Given the description of an element on the screen output the (x, y) to click on. 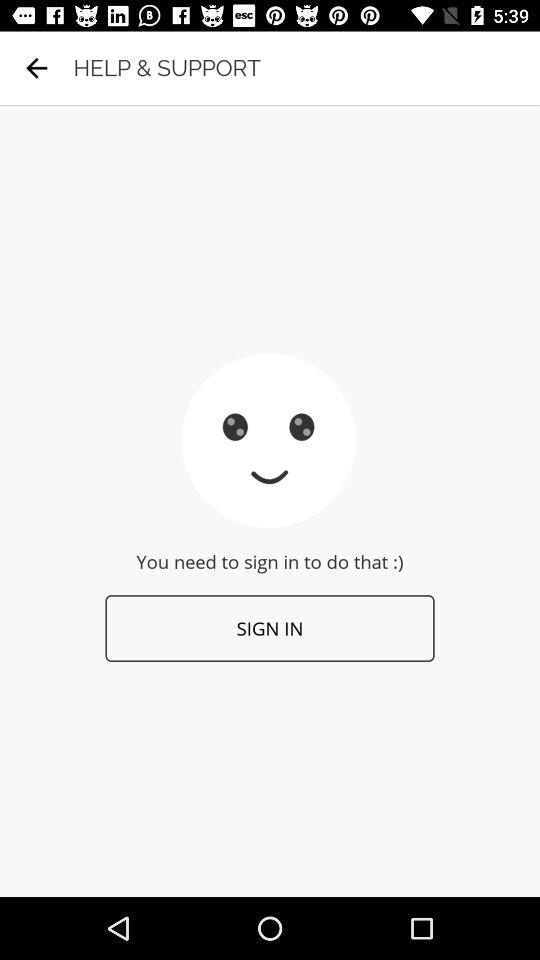
choose the icon next to the help & support item (36, 68)
